Given the description of an element on the screen output the (x, y) to click on. 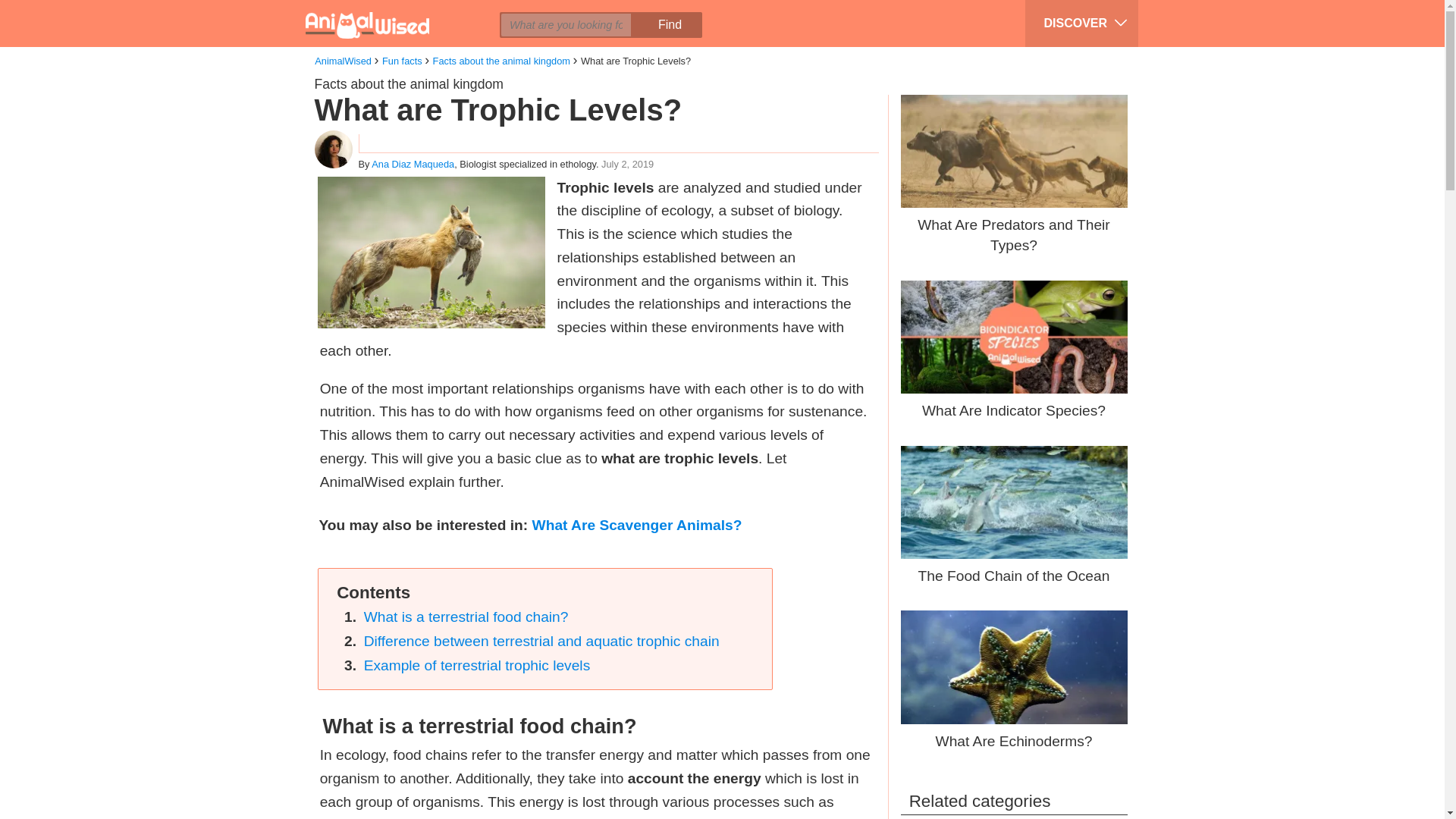
Difference between terrestrial and aquatic trophic chain (541, 641)
Ana Diaz Maqueda (412, 163)
twitter (399, 12)
imprimir (485, 12)
pinterest (427, 12)
AnimalWised (342, 60)
What Are Scavenger Animals? (637, 524)
Find (668, 24)
Fun facts (401, 60)
whatsapp (456, 12)
What is a terrestrial food chain? (466, 616)
facebook (370, 12)
Facts about the animal kingdom (501, 60)
Facts about the animal kingdom (408, 83)
descargar (514, 12)
